Given the description of an element on the screen output the (x, y) to click on. 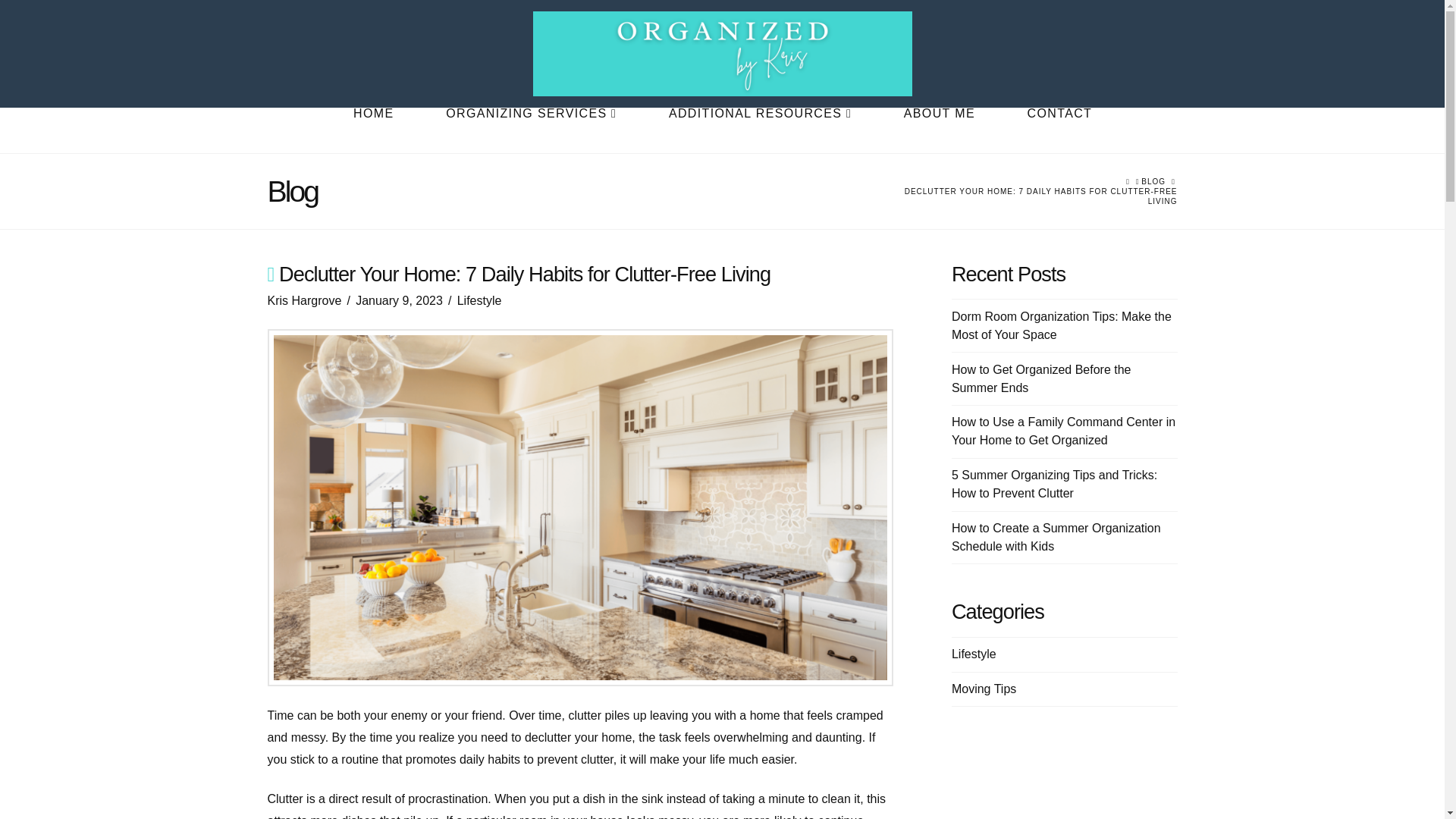
Lifestyle (973, 654)
You Are Here (1040, 196)
Dorm Room Organization Tips: Make the Most of Your Space (1062, 325)
5 Summer Organizing Tips and Tricks: How to Prevent Clutter (1054, 483)
HOME (372, 130)
CONTACT (1059, 130)
BLOG (1153, 181)
ADDITIONAL RESOURCES (759, 130)
Lifestyle (479, 300)
DECLUTTER YOUR HOME: 7 DAILY HABITS FOR CLUTTER-FREE LIVING (1040, 196)
How to Create a Summer Organization Schedule with Kids (1056, 536)
ORGANIZING SERVICES (530, 130)
ABOUT ME (939, 130)
How to Get Organized Before the Summer Ends (1041, 378)
